Given the description of an element on the screen output the (x, y) to click on. 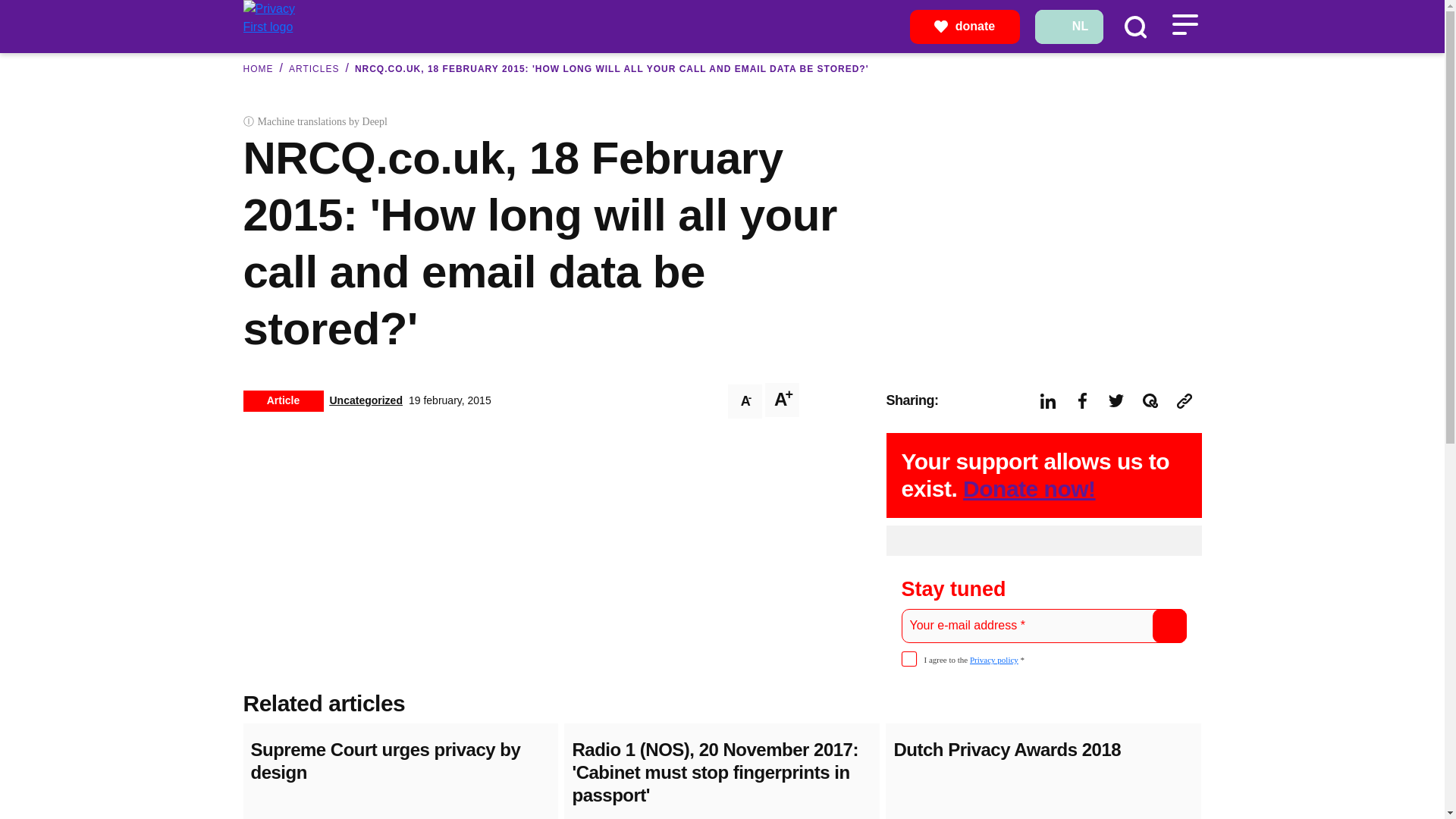
HOME (258, 68)
donate (965, 26)
Donate (965, 26)
Uncategorized (365, 399)
on (909, 658)
Search (1134, 26)
Dutch (1067, 26)
Open menu (1184, 24)
ARTICLES (313, 68)
